Given the description of an element on the screen output the (x, y) to click on. 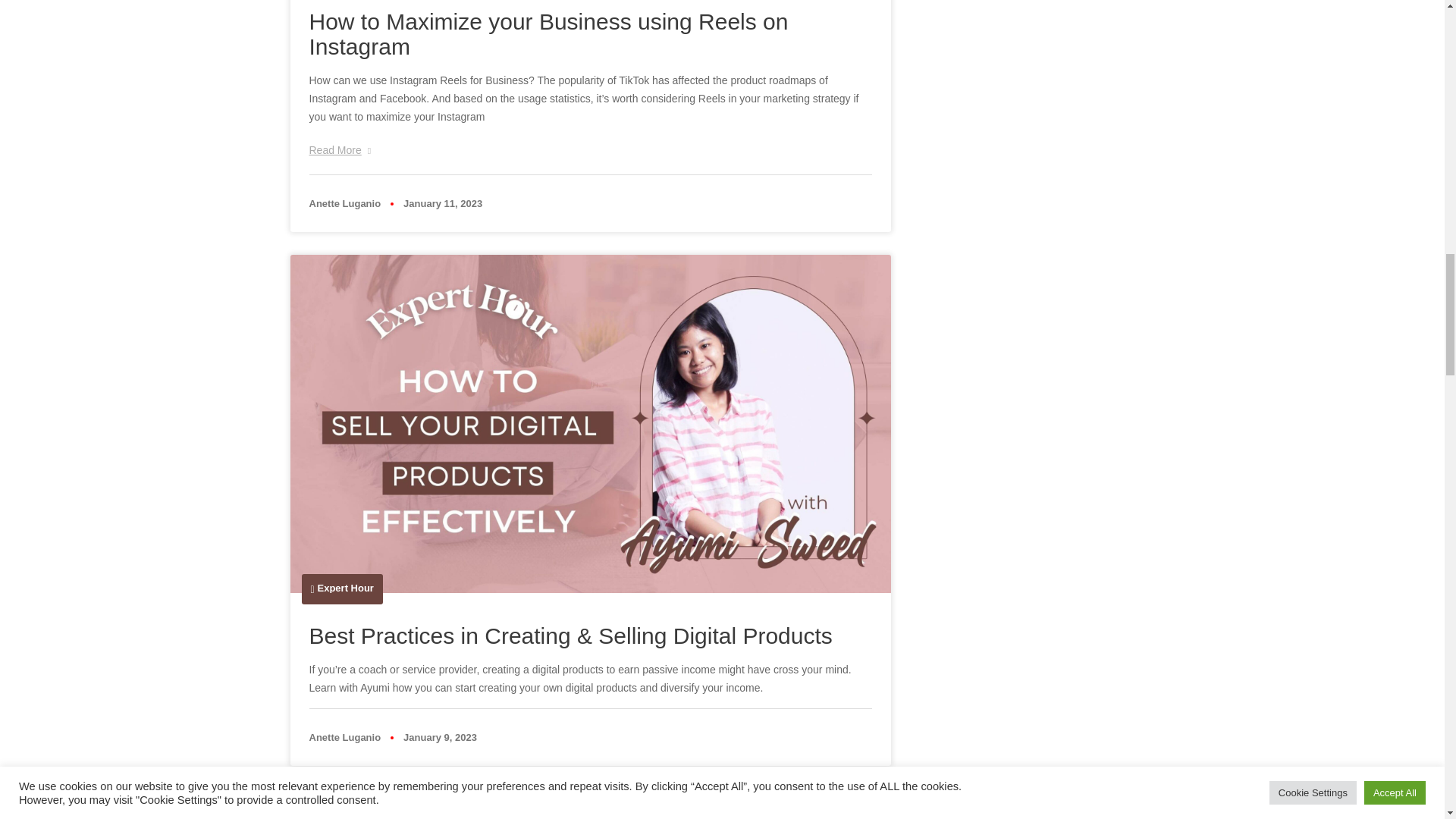
January 9, 2023 (440, 737)
Anette Luganio (344, 737)
January 11, 2023 (442, 203)
How to Maximize your Business using Reels on Instagram (548, 33)
Expert Hour (345, 587)
Anette Luganio (344, 203)
Read More (339, 149)
